Given the description of an element on the screen output the (x, y) to click on. 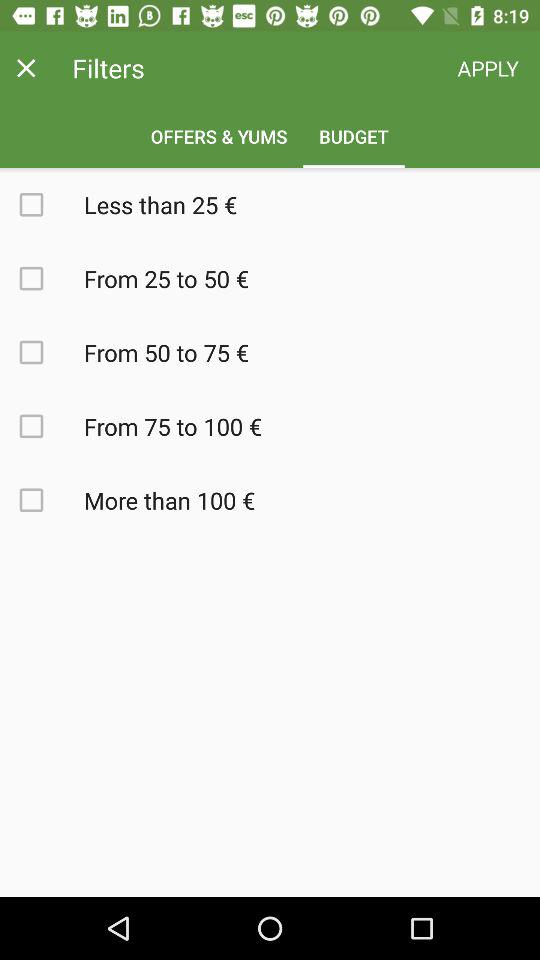
check price range (41, 426)
